Given the description of an element on the screen output the (x, y) to click on. 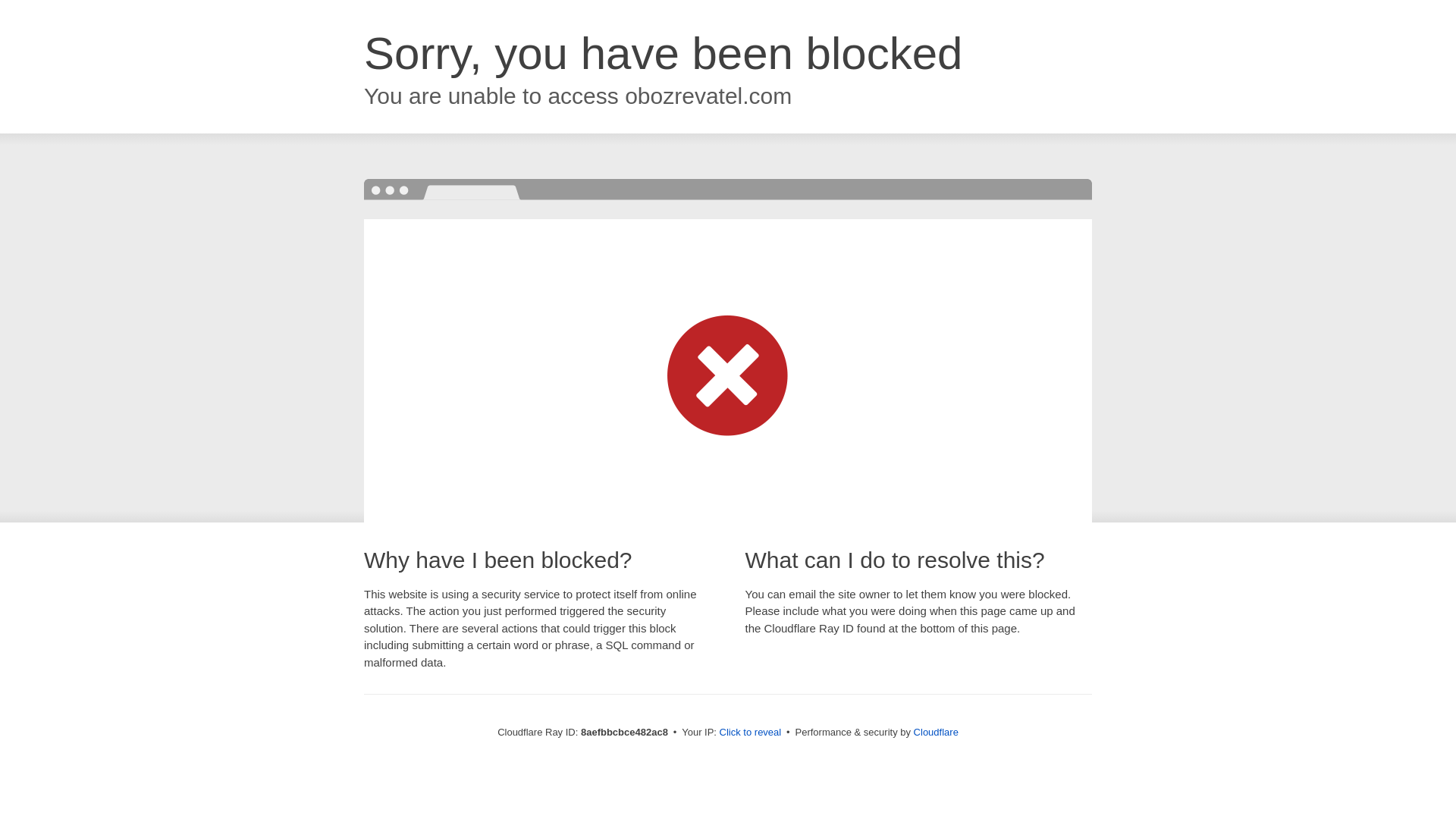
Cloudflare (936, 731)
Click to reveal (750, 732)
